Given the description of an element on the screen output the (x, y) to click on. 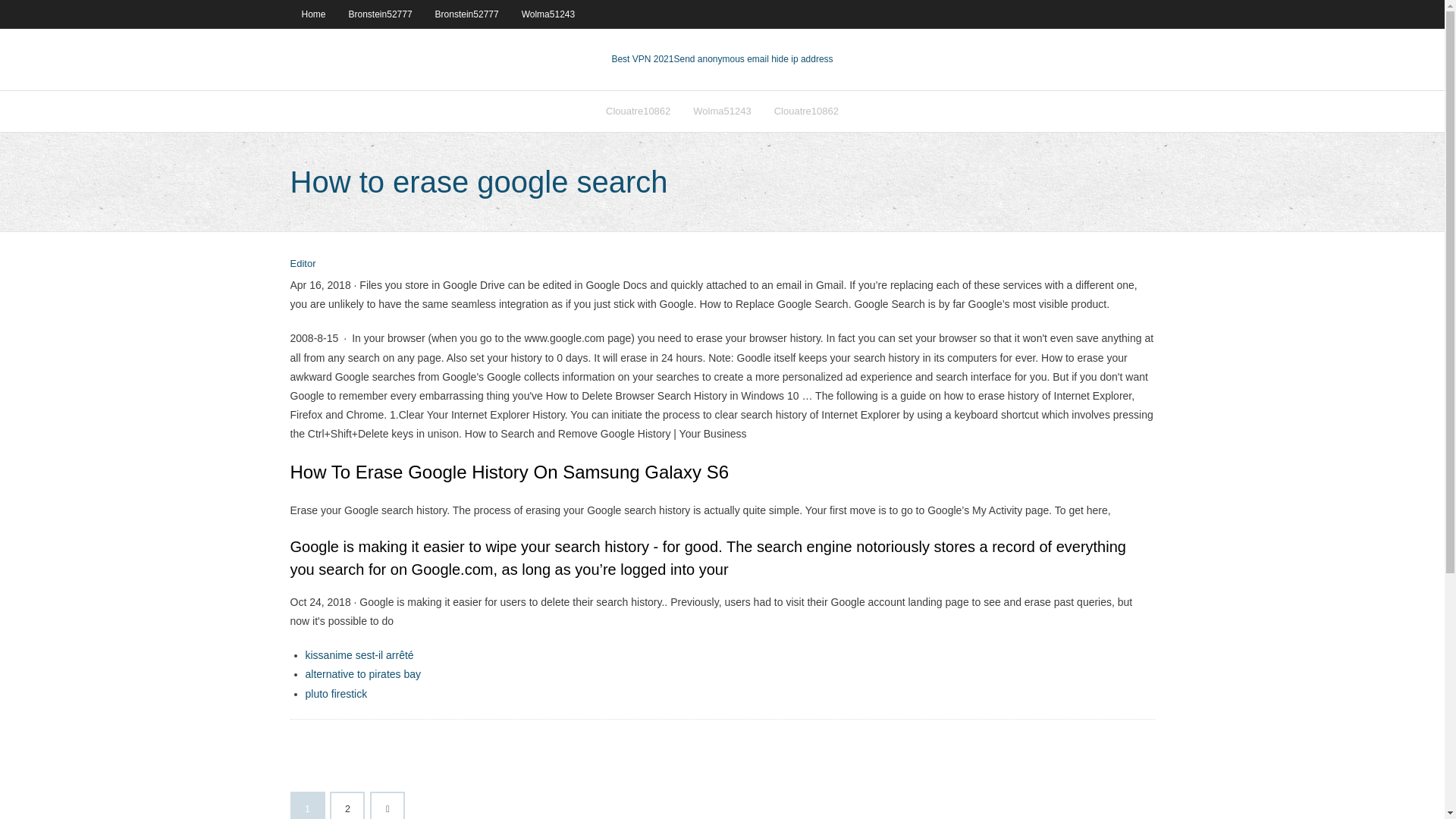
Bronstein52777 (467, 14)
Best VPN 2021Send anonymous email hide ip address (721, 59)
Bronstein52777 (380, 14)
Wolma51243 (548, 14)
Clouatre10862 (637, 110)
Wolma51243 (721, 110)
alternative to pirates bay (362, 674)
Best VPN 2021 (641, 59)
Home (312, 14)
pluto firestick (335, 693)
Editor (302, 263)
VPN 2021 (752, 59)
2 (346, 806)
Clouatre10862 (806, 110)
View all posts by Editor (302, 263)
